Given the description of an element on the screen output the (x, y) to click on. 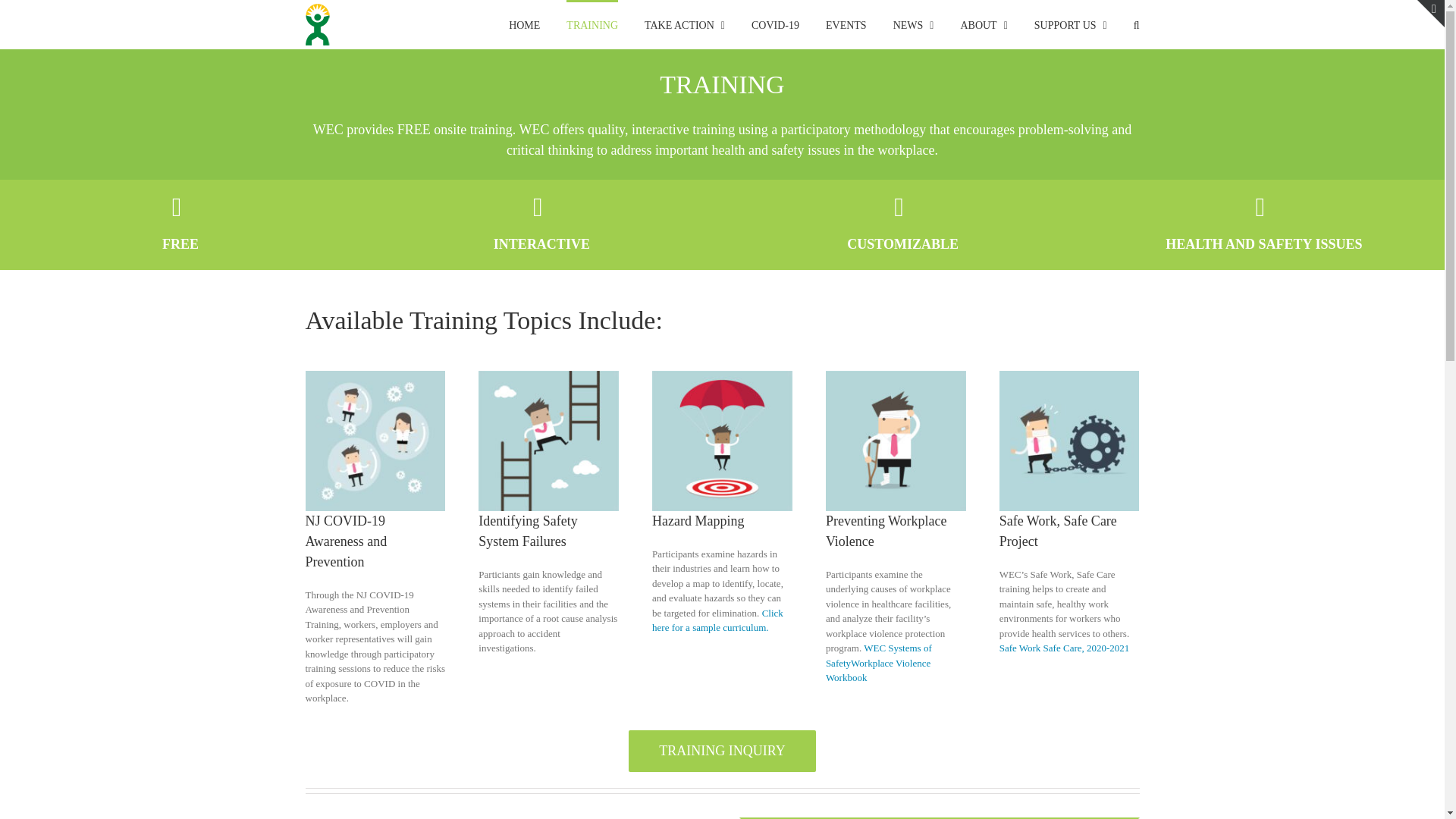
njwec-work-environment-council-training-04 (895, 441)
Training-Safe-Work-1-min (1069, 441)
njwec-work-environment-council-training-01 (548, 441)
Training-COVID-19-1-min (374, 441)
TRAINING (591, 24)
TAKE ACTION (685, 24)
njwec-work-environment-council-training-02 (722, 441)
COVID-19 (775, 24)
ABOUT (983, 24)
